Given the description of an element on the screen output the (x, y) to click on. 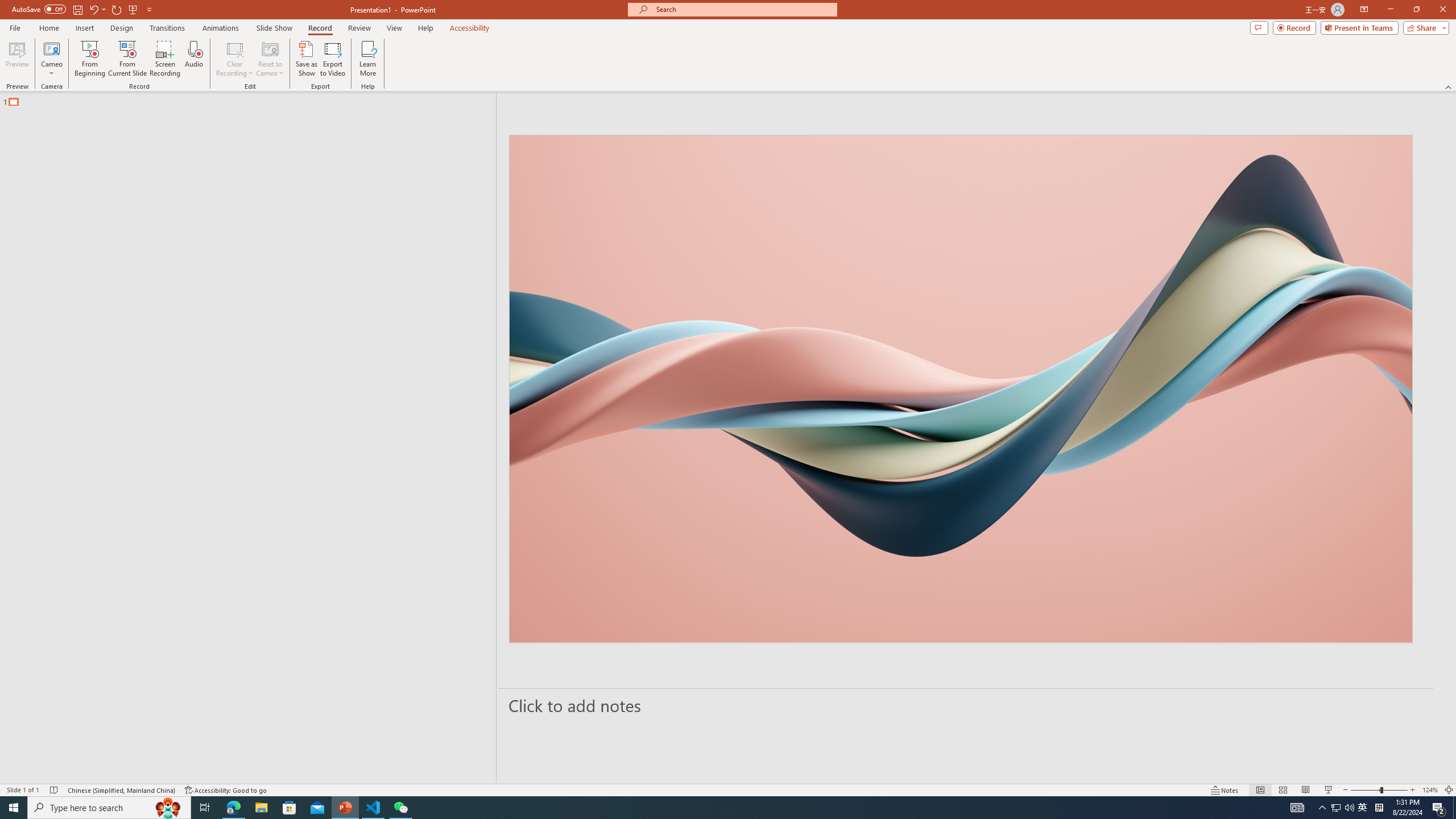
Wavy 3D art (960, 388)
Zoom 124% (1430, 790)
Reset to Cameo (269, 58)
From Current Slide... (127, 58)
